Given the description of an element on the screen output the (x, y) to click on. 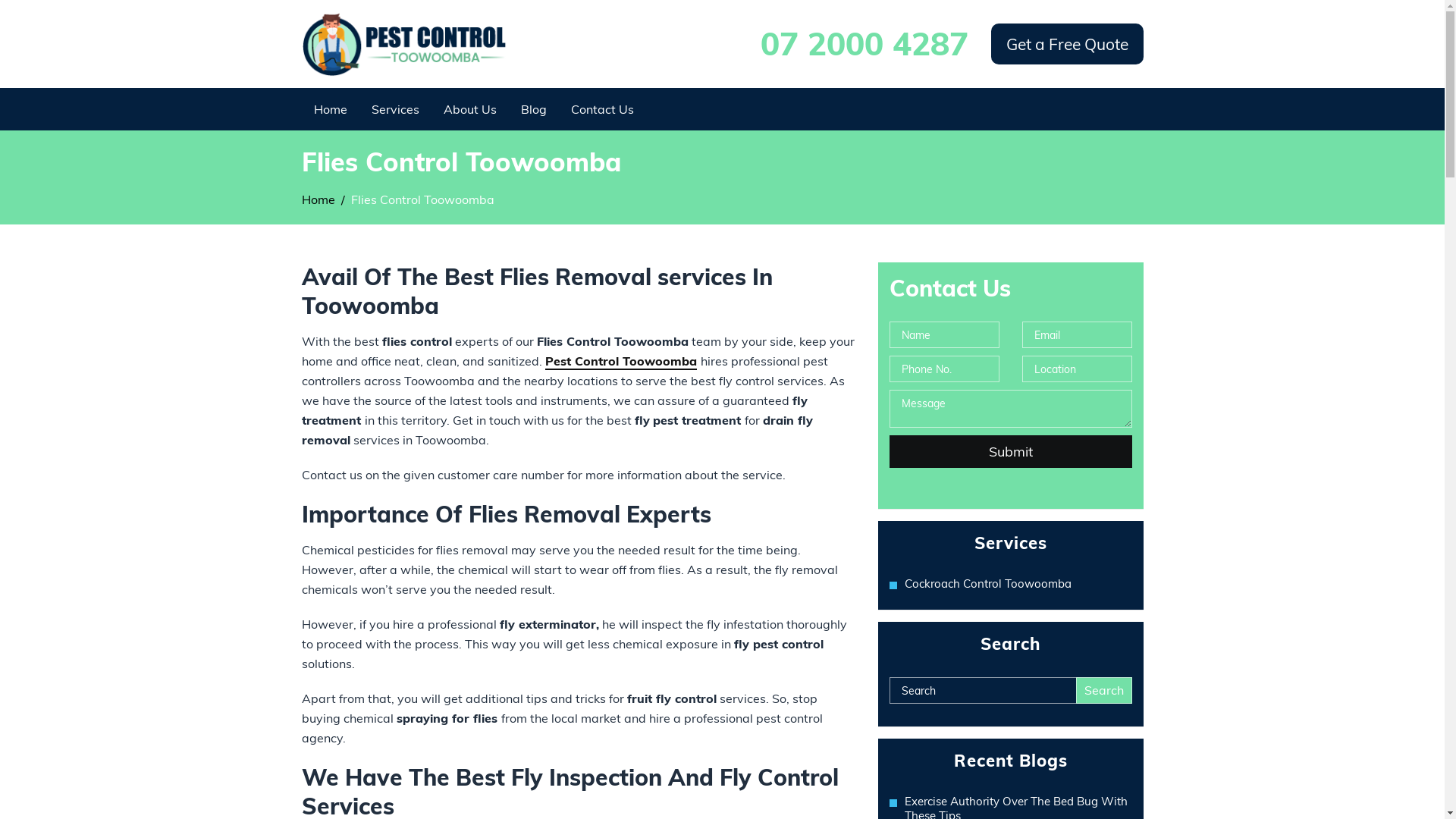
Get a Free Quote Element type: text (1066, 43)
Services Element type: text (394, 108)
07 2000 4287 Element type: text (863, 43)
Submit Element type: text (1009, 451)
Contact Us Element type: text (602, 108)
Cockroach Control Toowoomba Element type: text (1017, 583)
Search Element type: text (1103, 690)
Home Element type: text (329, 108)
Home Element type: text (318, 199)
About Us Element type: text (470, 108)
Blog Element type: text (533, 108)
Pest Control Toowoomba Element type: text (620, 361)
